Given the description of an element on the screen output the (x, y) to click on. 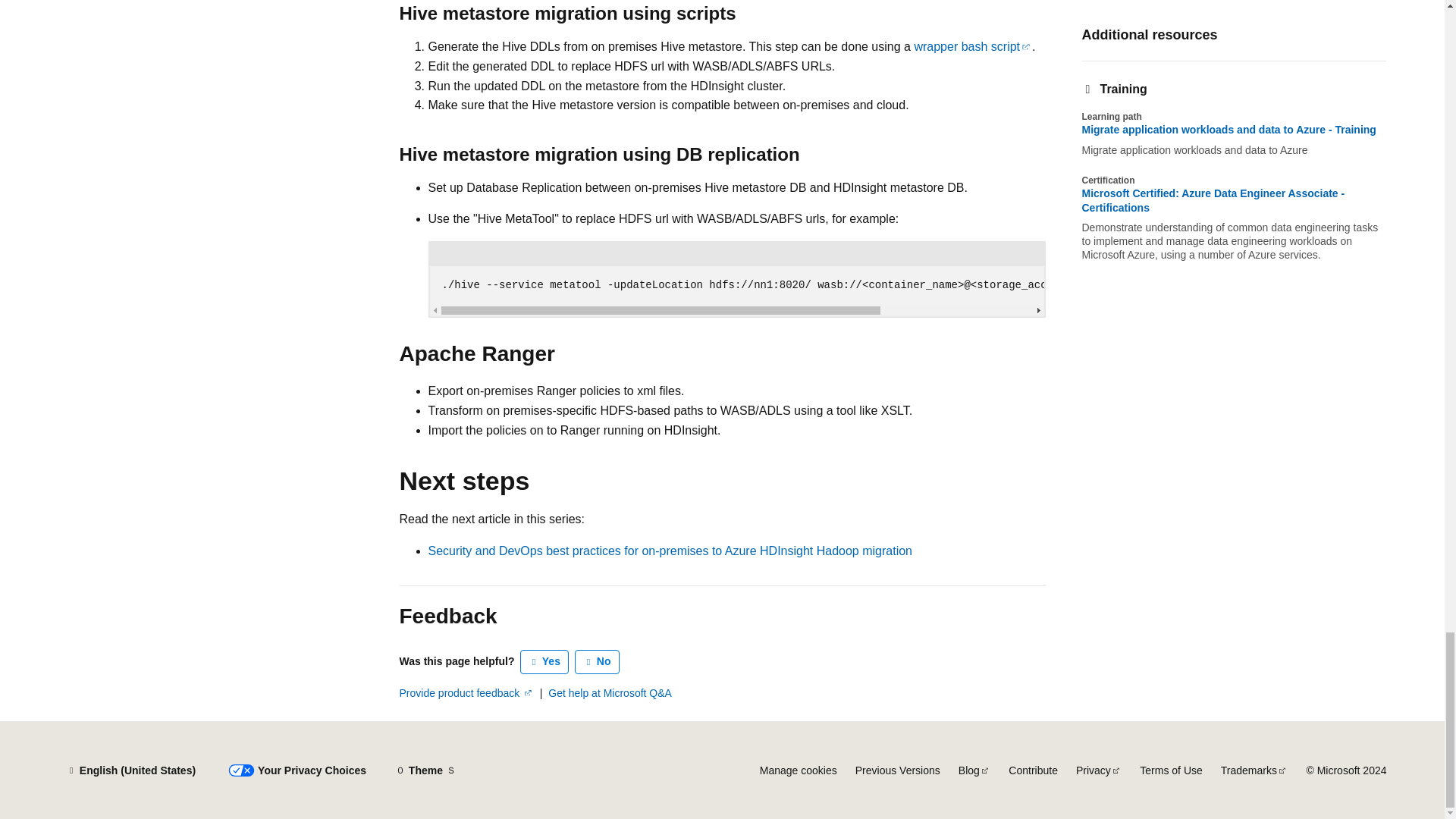
This article is helpful (544, 662)
Theme (425, 770)
This article is not helpful (597, 662)
